Given the description of an element on the screen output the (x, y) to click on. 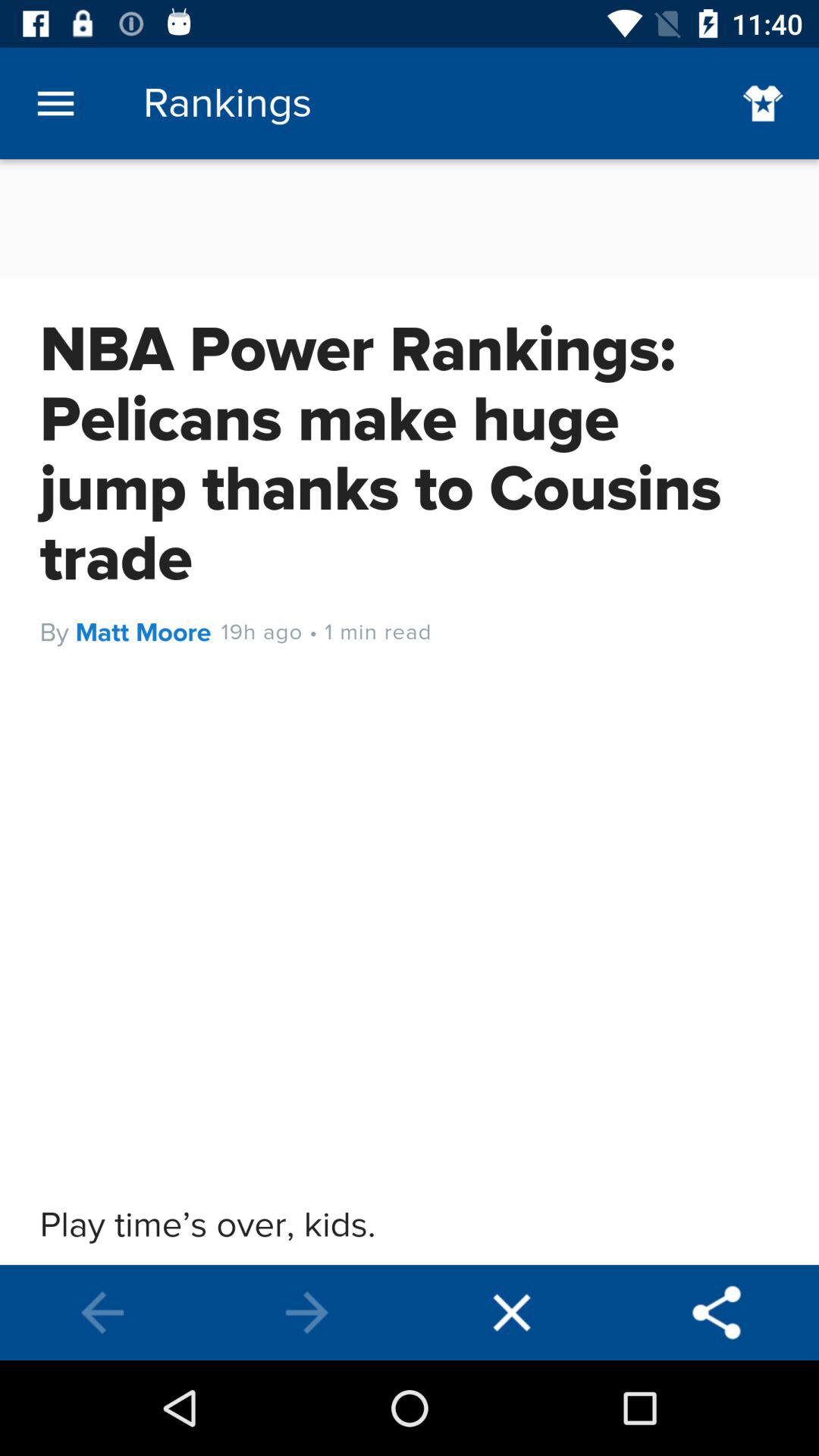
article display (409, 711)
